Given the description of an element on the screen output the (x, y) to click on. 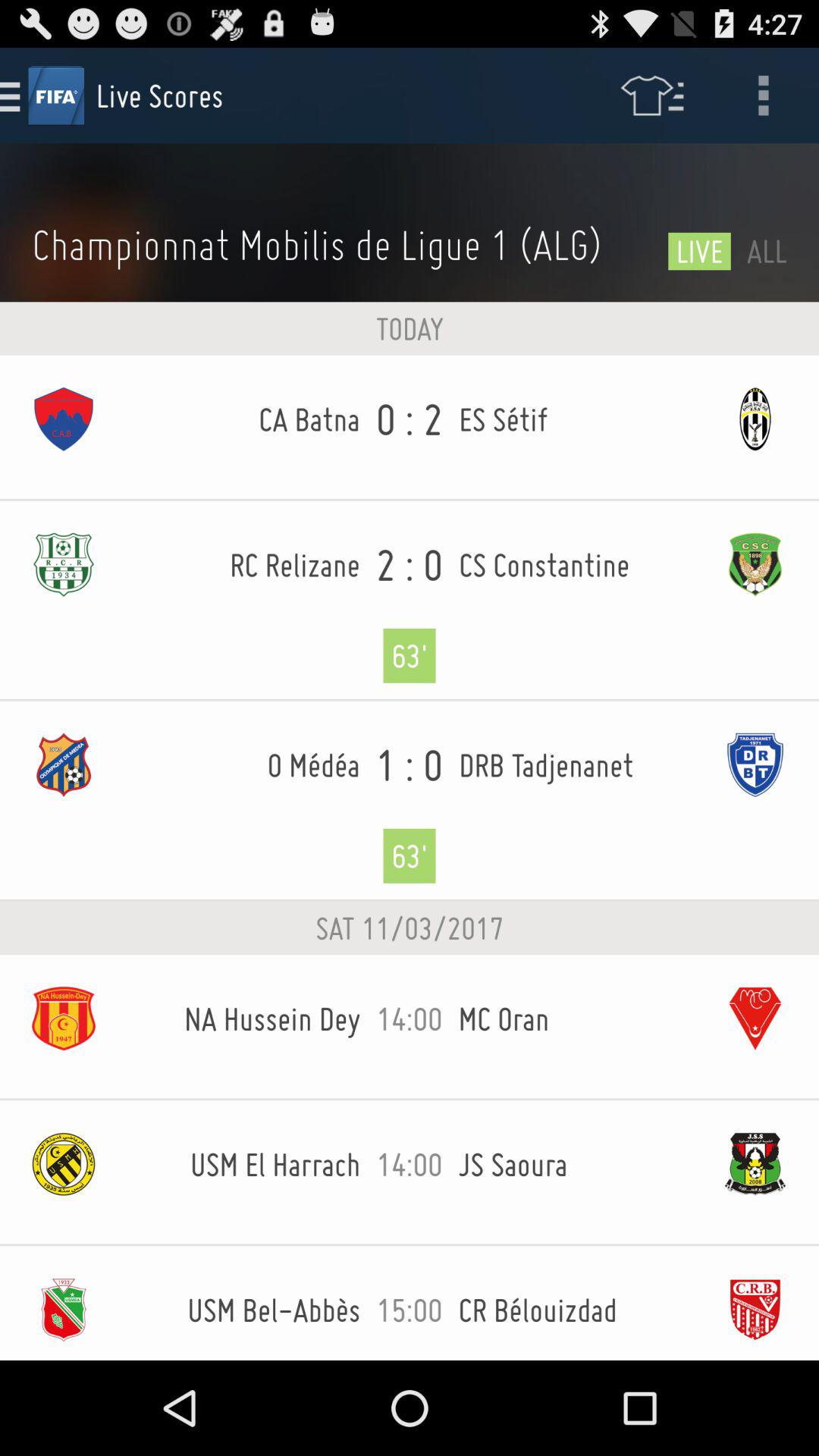
click on the first icon (79, 419)
click the logo left to live scores (55, 95)
click on the last image at the bottom of the page (739, 1309)
